Given the description of an element on the screen output the (x, y) to click on. 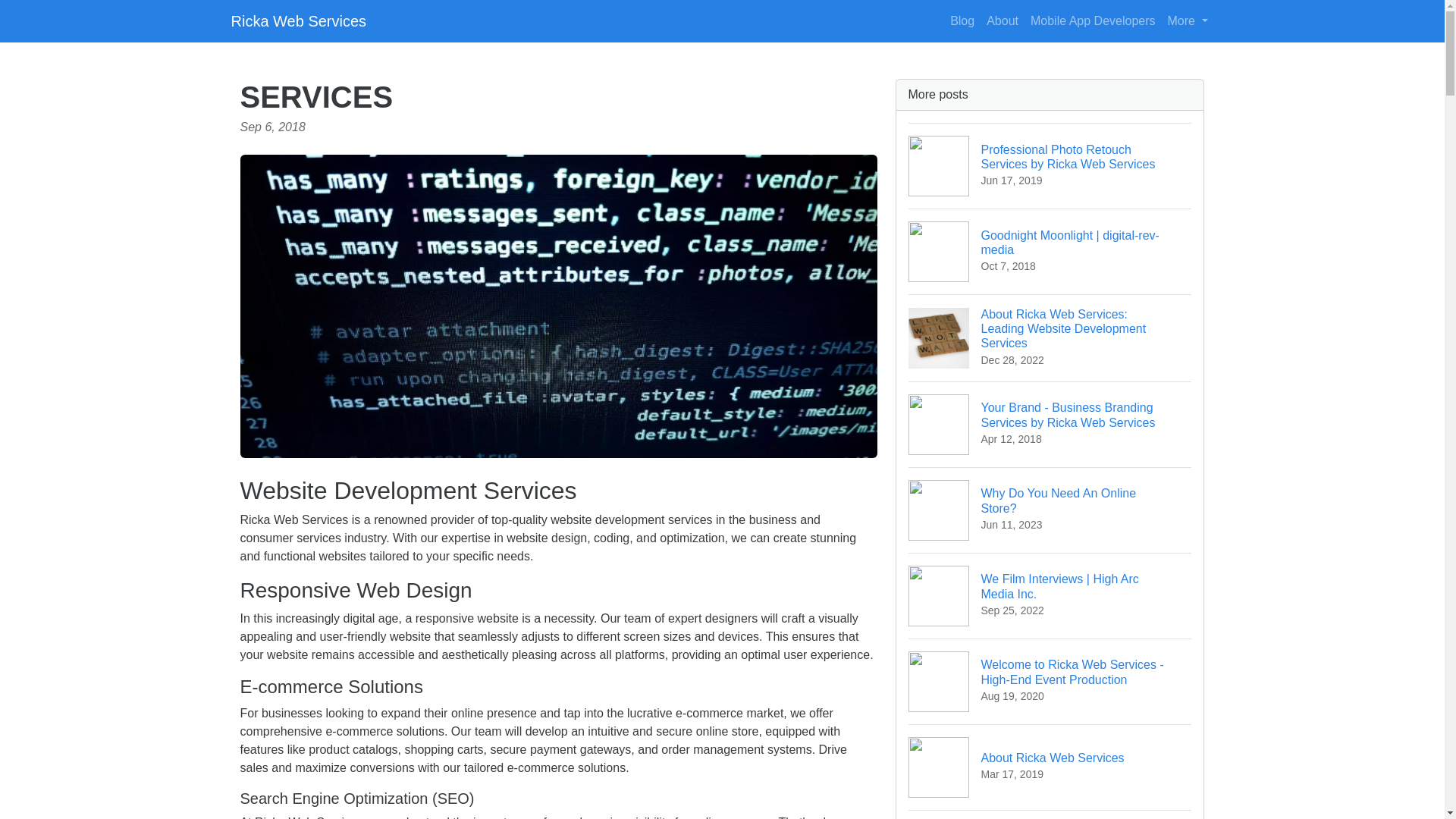
Ricka Web Services (1050, 766)
Blog (298, 20)
About (961, 20)
More (1002, 20)
